Given the description of an element on the screen output the (x, y) to click on. 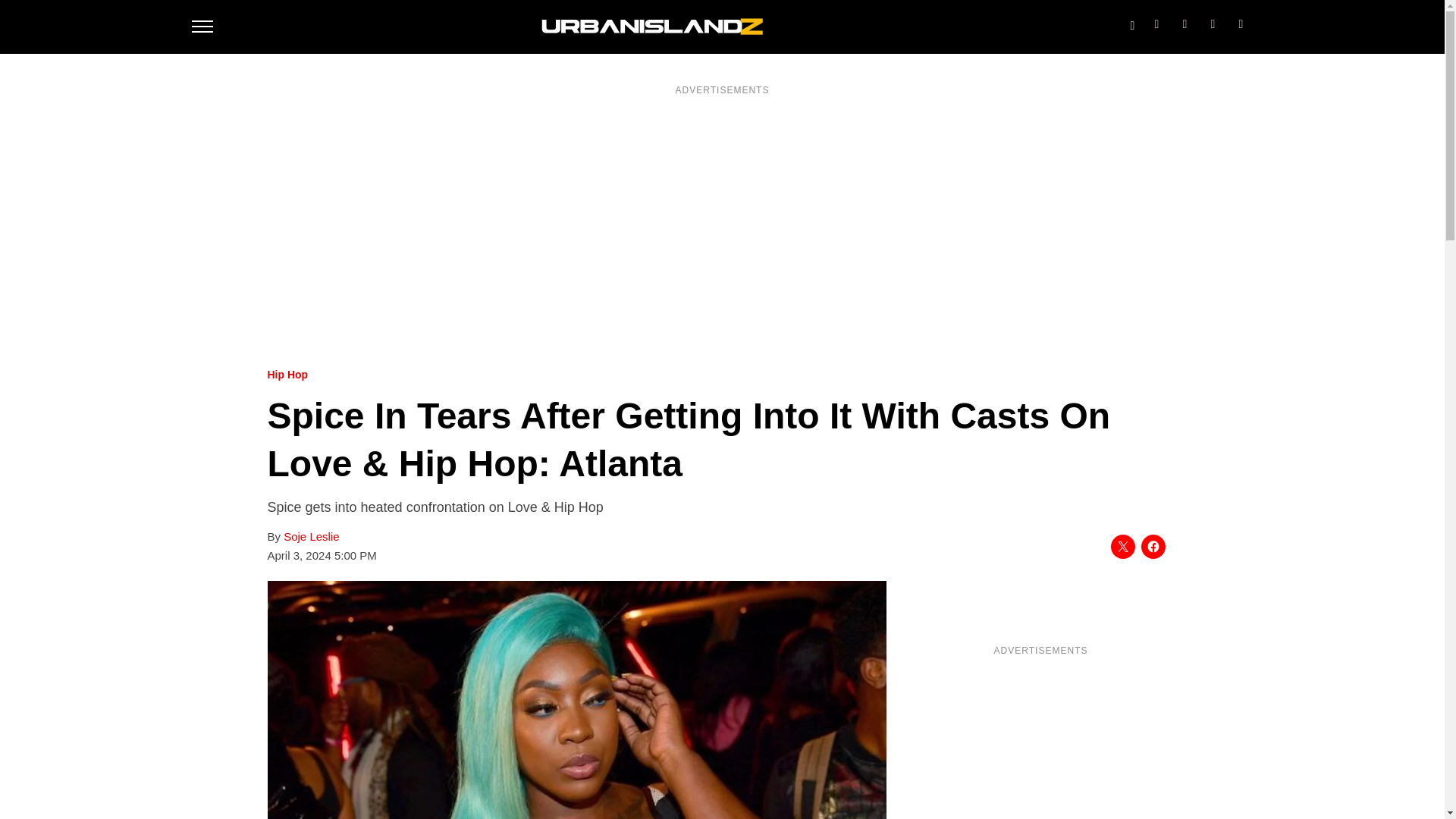
Soje Leslie (311, 536)
Click to share on Facebook (1152, 546)
Search (1131, 22)
Posts by Soje Leslie (311, 536)
Hip Hop (286, 375)
Click to share on X (1121, 546)
